Given the description of an element on the screen output the (x, y) to click on. 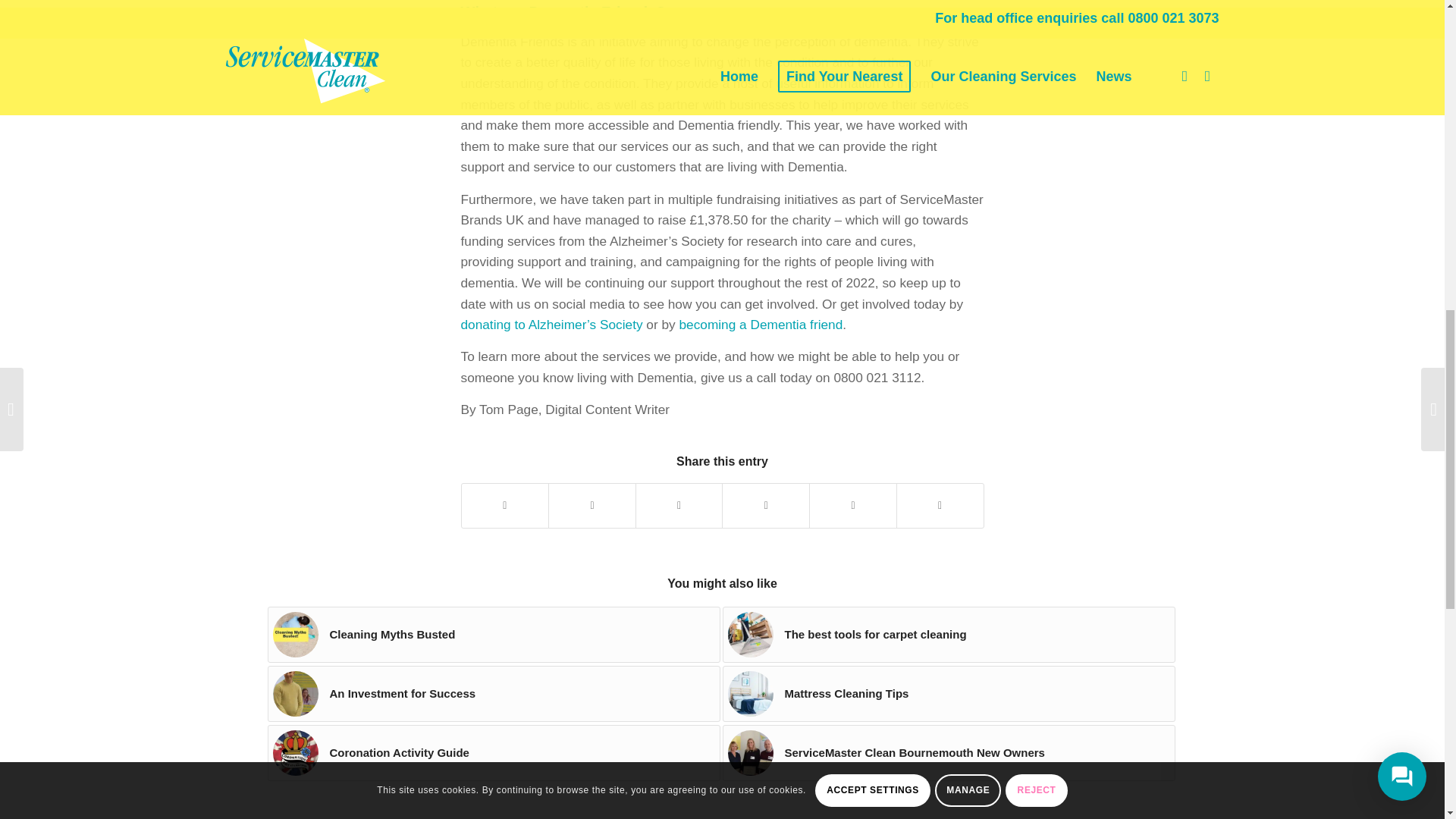
useful information (827, 83)
becoming a Dementia friend (761, 324)
Cleaning Myths Busted (492, 634)
The best tools for carpet cleaning (948, 634)
An Investment for Success (492, 693)
Cleaning Myths Busted (492, 634)
